Given the description of an element on the screen output the (x, y) to click on. 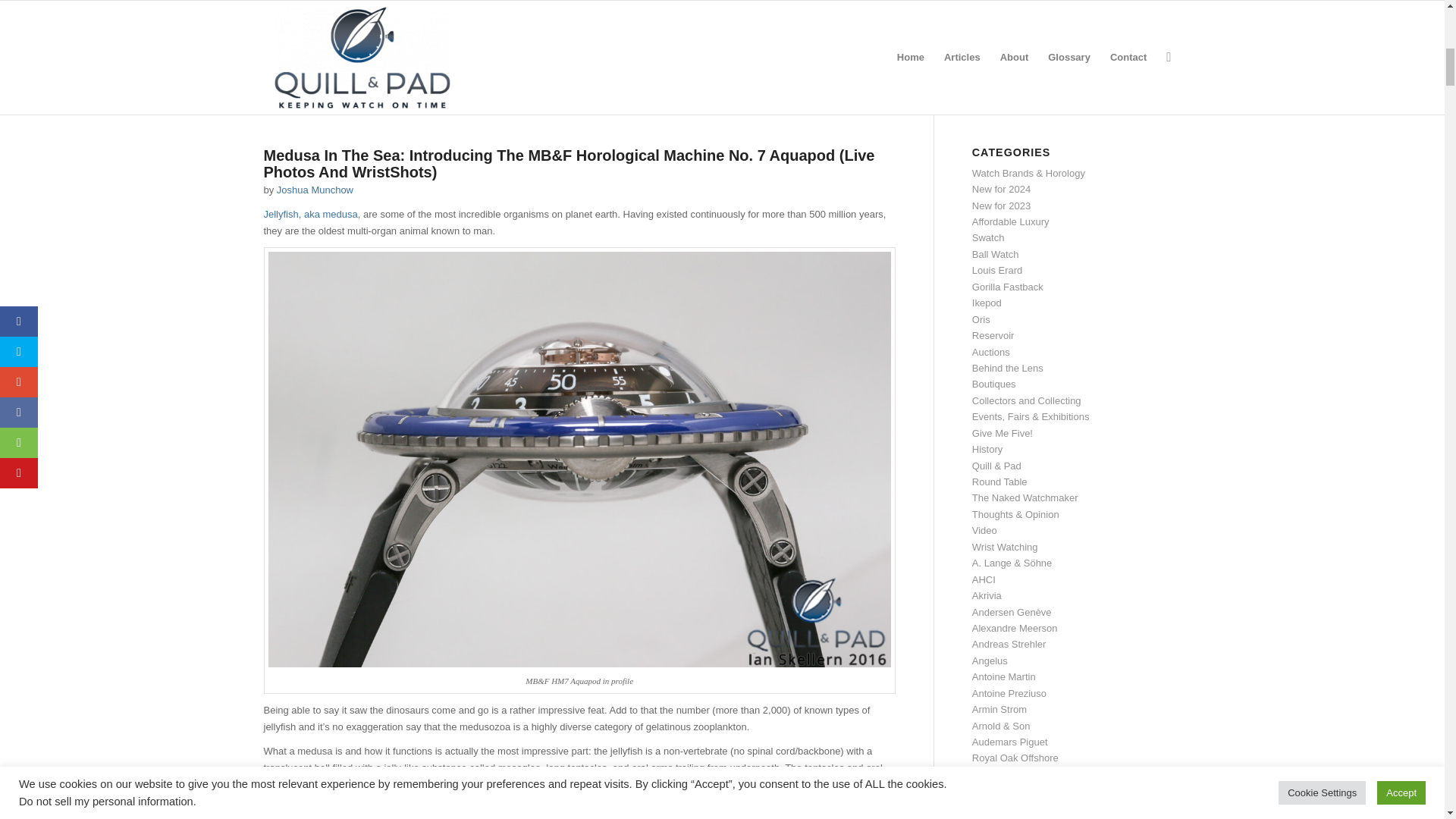
New for 2023 (1001, 205)
Swatch (988, 237)
Ball Watch (995, 254)
Jellyfish, aka medusa (310, 214)
Joshua Munchow (314, 189)
Affordable Luxury (1010, 221)
New for 2024 (1001, 188)
